Given the description of an element on the screen output the (x, y) to click on. 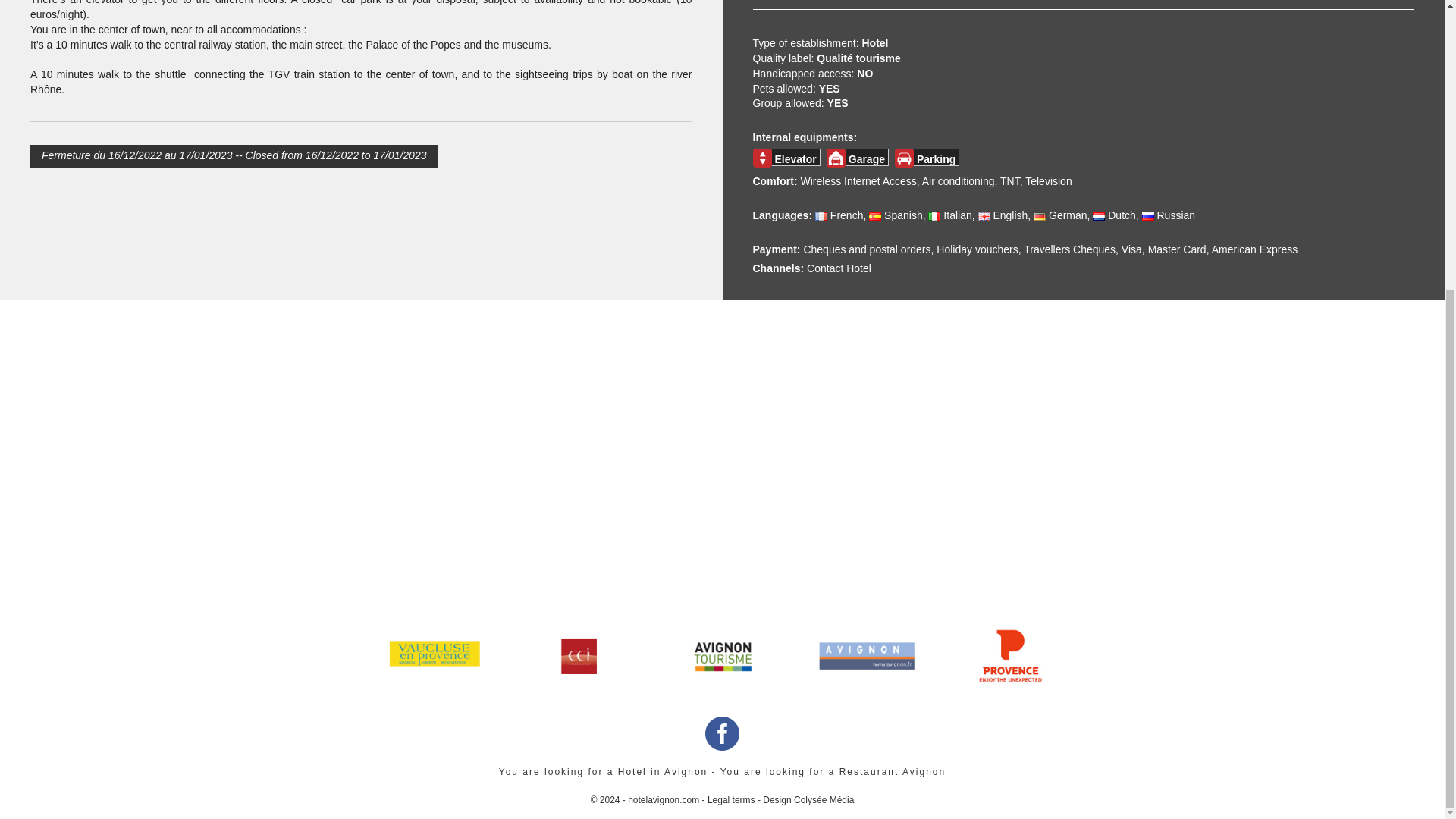
Parking (904, 157)
Garage (836, 157)
Elevator (761, 157)
Legal terms (731, 799)
